Given the description of an element on the screen output the (x, y) to click on. 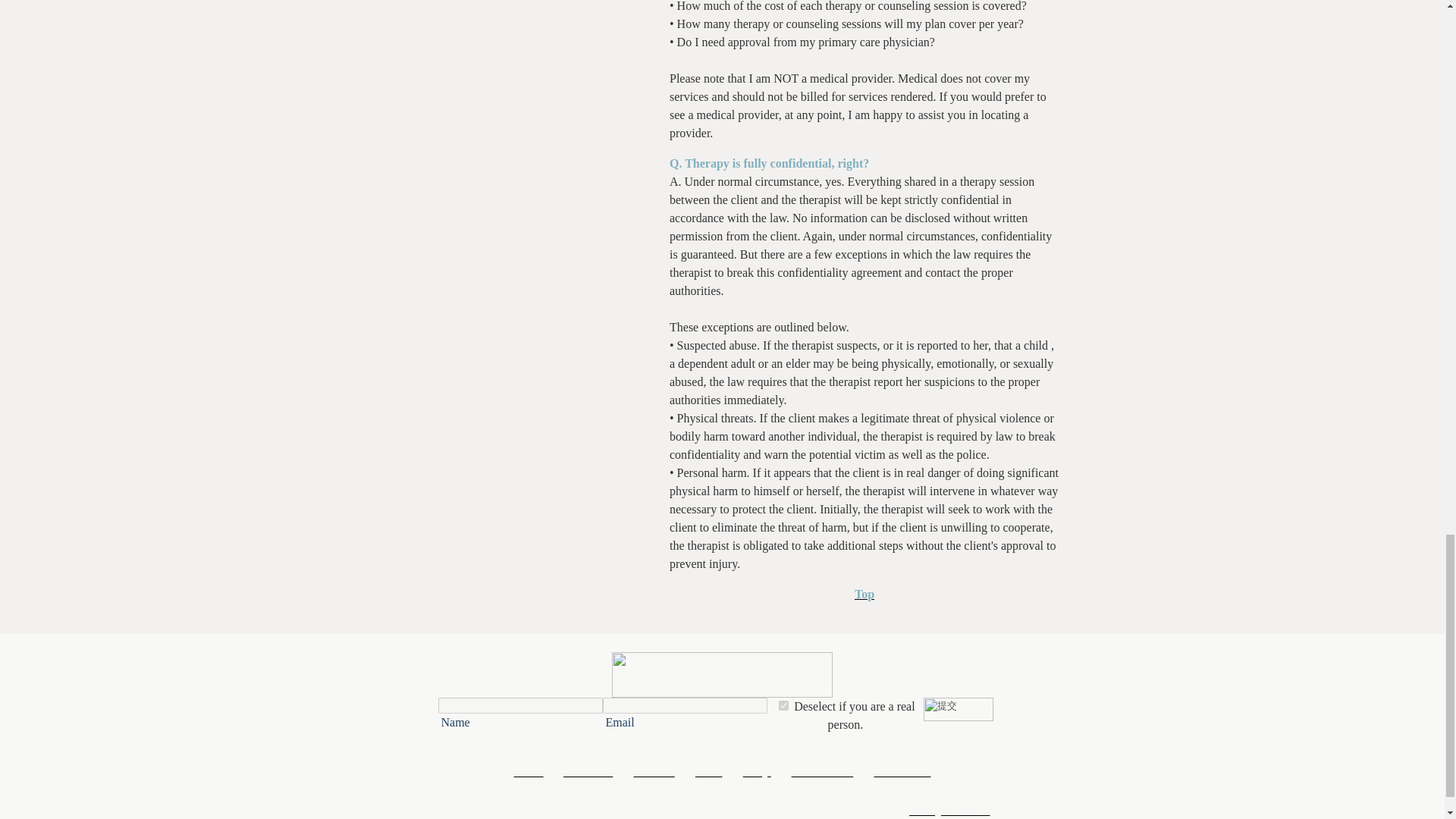
Services (654, 771)
Rates (708, 771)
FAQs (756, 771)
Real (783, 705)
About Me (587, 771)
Top (864, 594)
Testimonials (822, 771)
Sterling Productions (949, 810)
Home (528, 771)
Contact Me (901, 771)
